Given the description of an element on the screen output the (x, y) to click on. 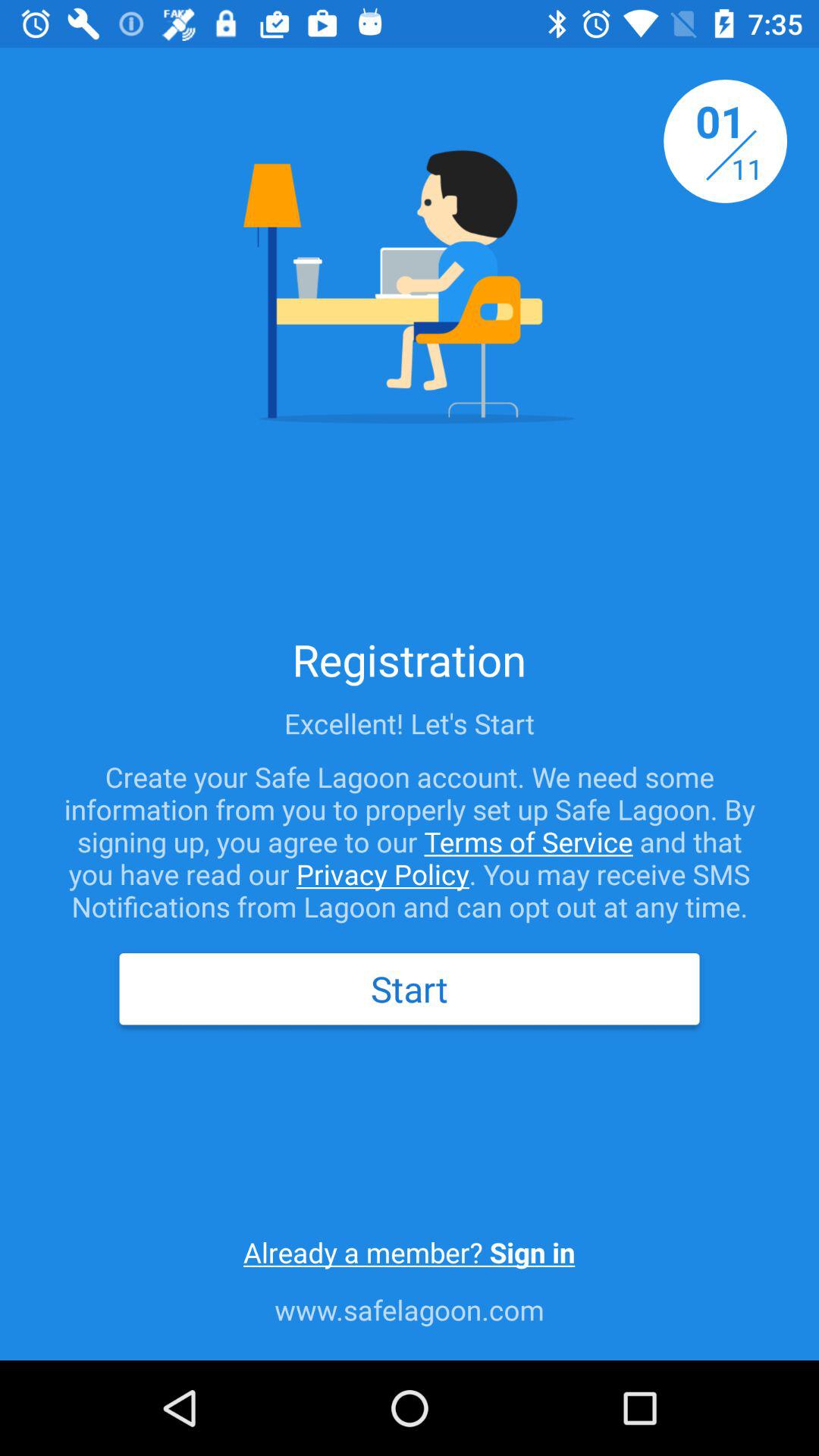
choose icon below the excellent let s icon (409, 841)
